Given the description of an element on the screen output the (x, y) to click on. 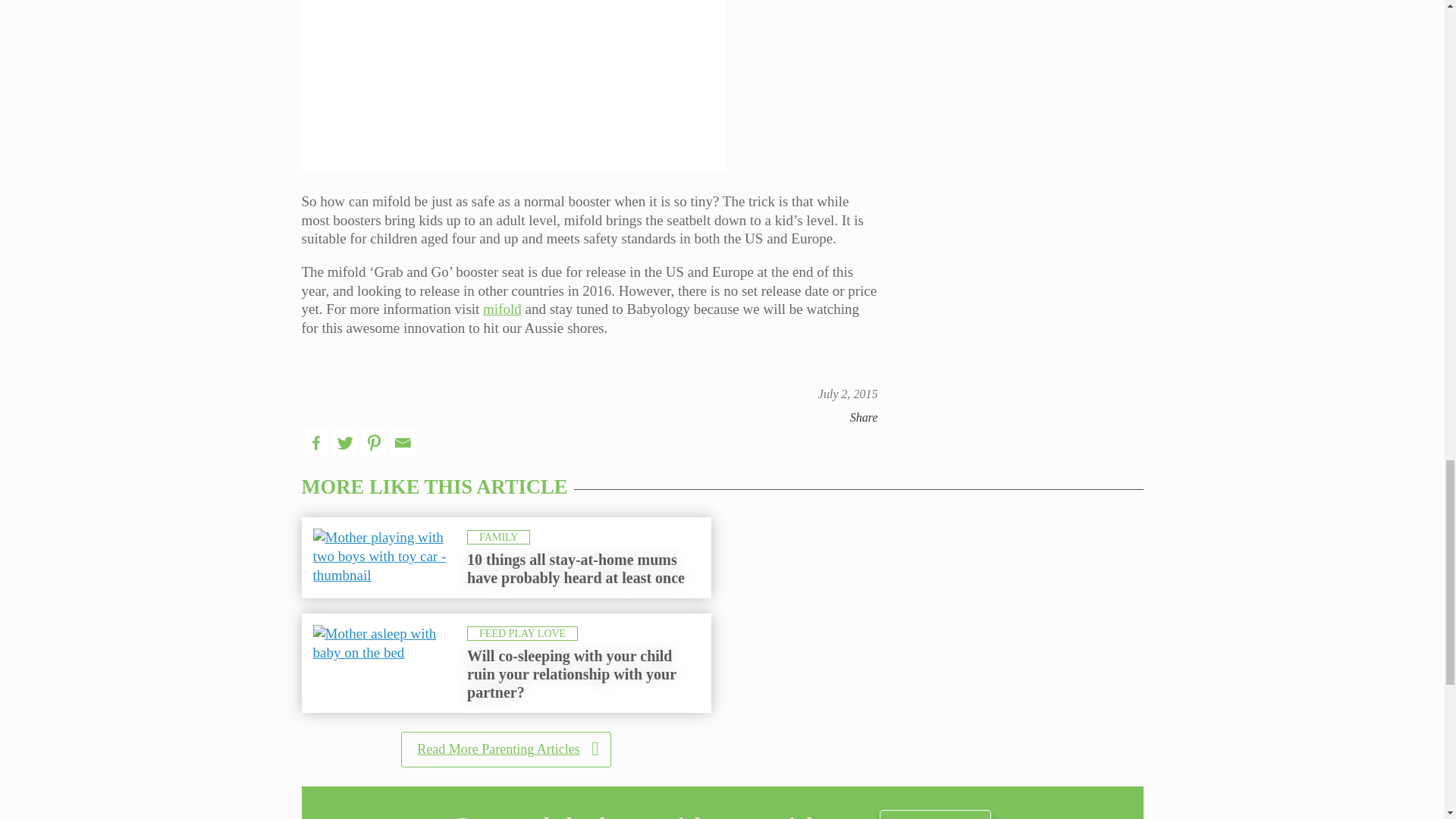
Twitter (344, 442)
7:00 am (847, 393)
Facebook (315, 442)
